Given the description of an element on the screen output the (x, y) to click on. 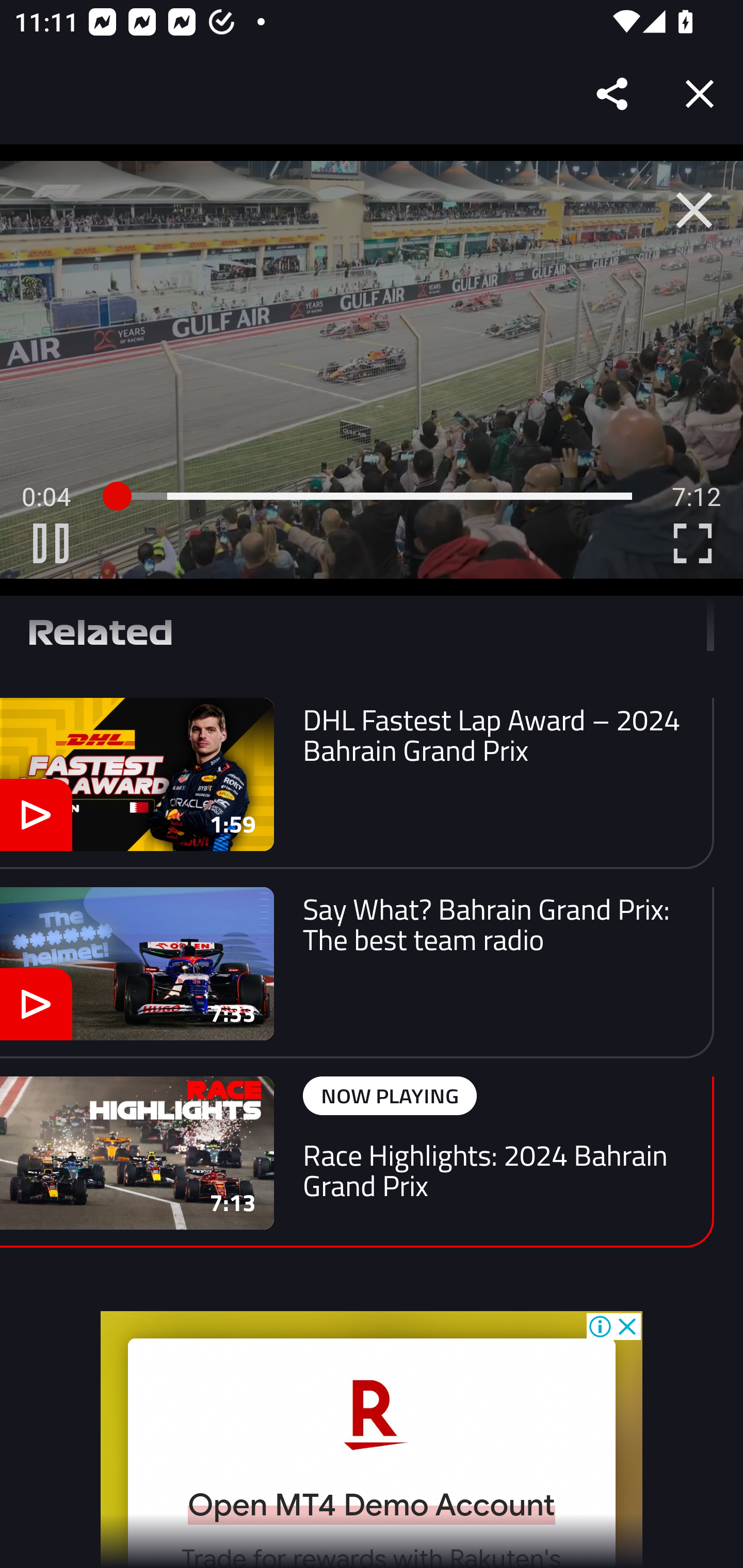
Share (612, 93)
Close (699, 93)
 Close (693, 210)
B Pause (50, 543)
C Enter Fullscreen (692, 543)
Open MT4 Demo Account (371, 1504)
